Given the description of an element on the screen output the (x, y) to click on. 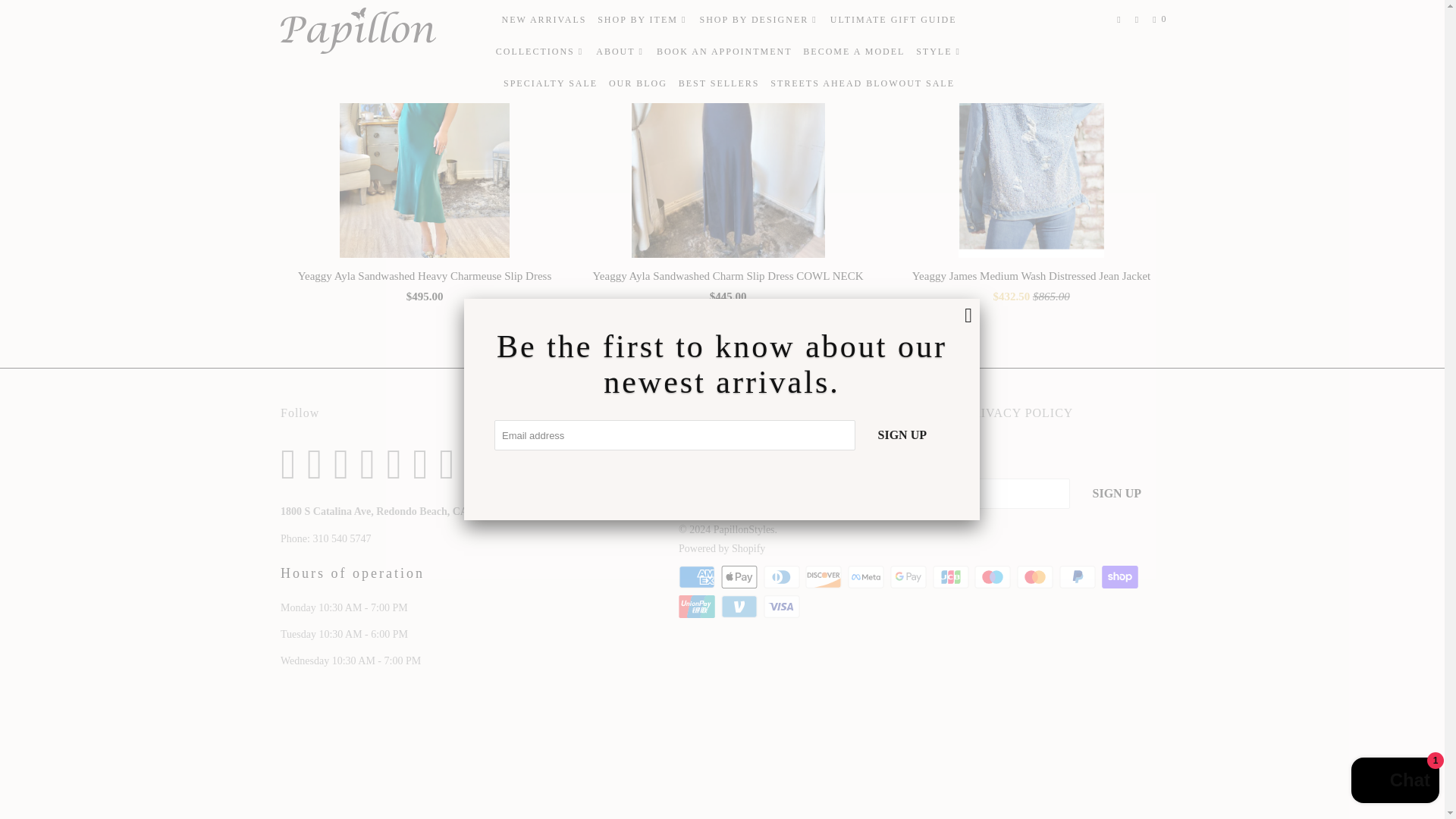
American Express (697, 576)
Diners Club (782, 576)
PayPal (1079, 576)
Venmo (740, 606)
Shop Pay (1120, 576)
Apple Pay (740, 576)
JCB (952, 576)
Discover (824, 576)
Mastercard (1036, 576)
Maestro (993, 576)
Google Pay (909, 576)
Visa (782, 606)
Union Pay (697, 606)
Meta Pay (866, 576)
